Given the description of an element on the screen output the (x, y) to click on. 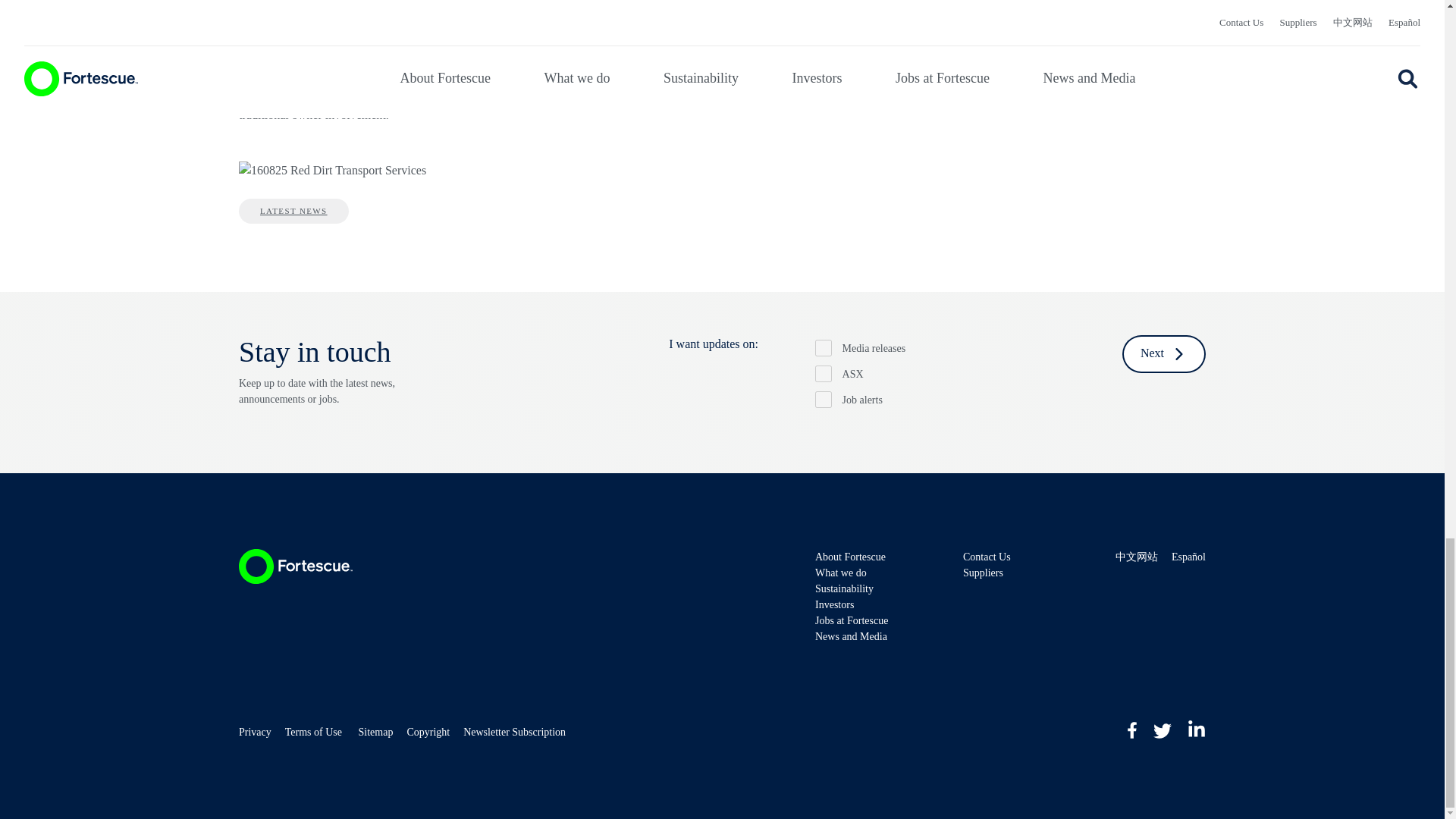
Job alerts (823, 399)
160825 Red Dirt Transport Services (332, 170)
ASX (823, 373)
Media releases (823, 347)
